Given the description of an element on the screen output the (x, y) to click on. 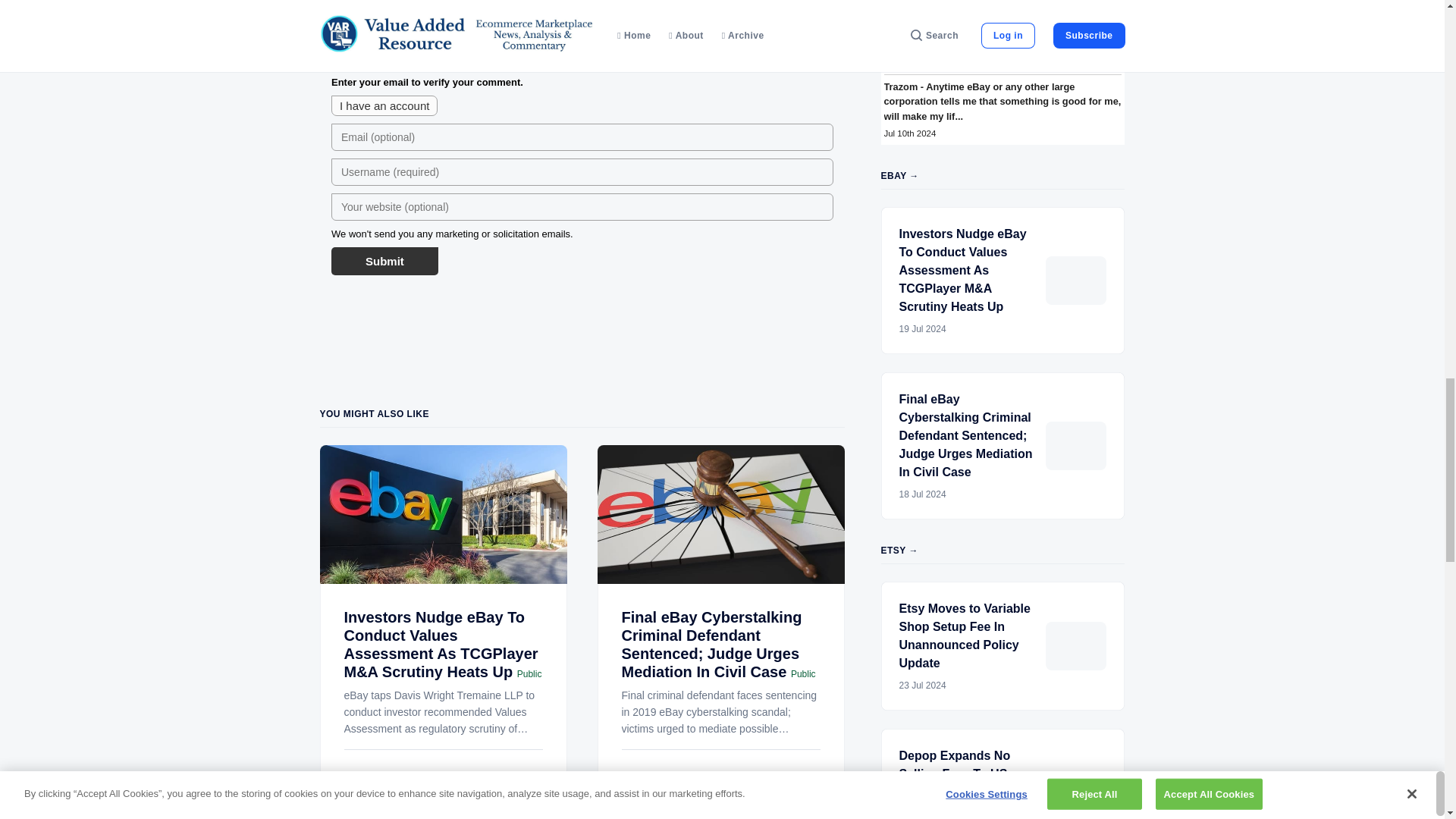
eBay (530, 787)
